Given the description of an element on the screen output the (x, y) to click on. 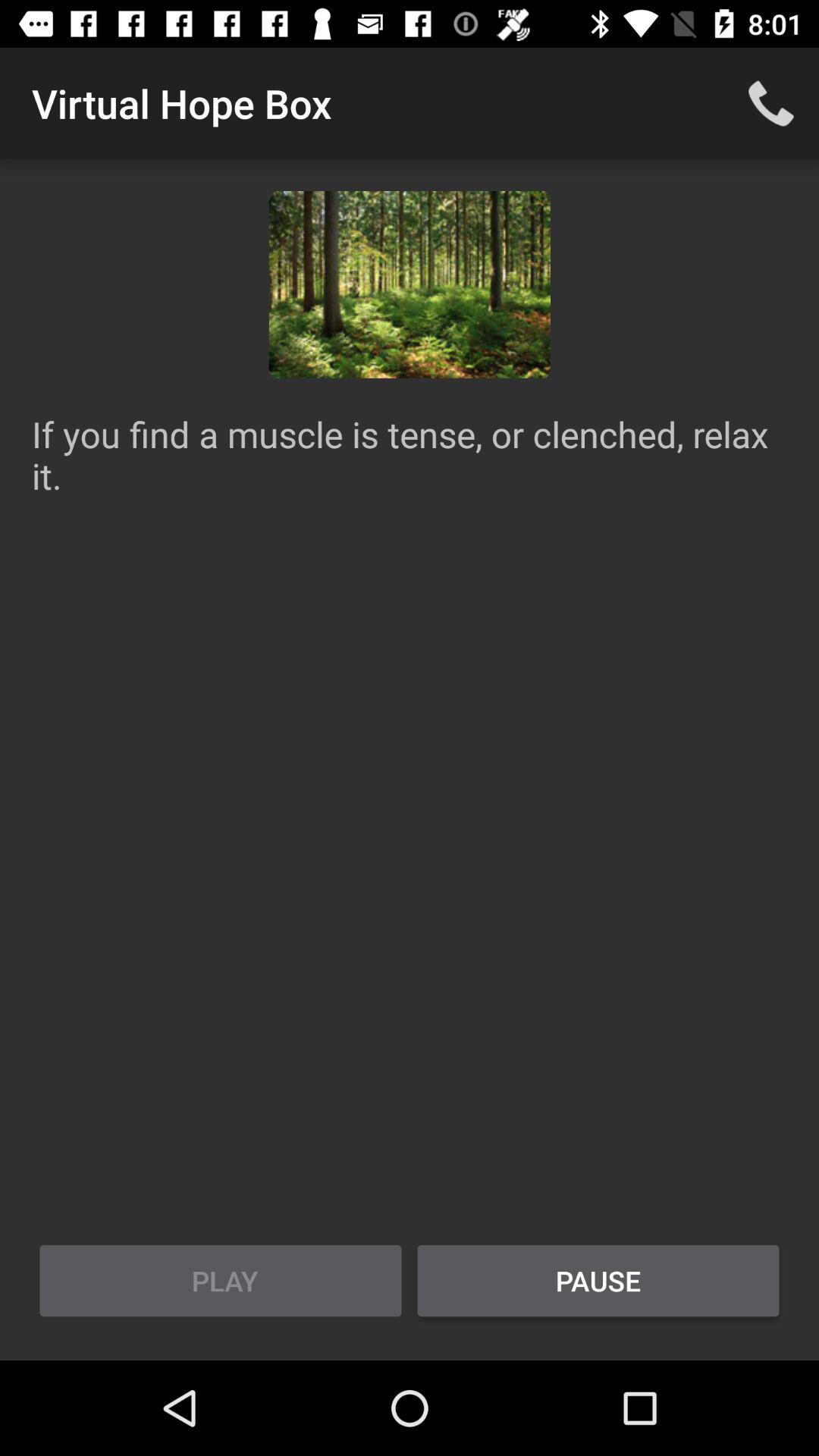
select item next to the pause (220, 1280)
